Given the description of an element on the screen output the (x, y) to click on. 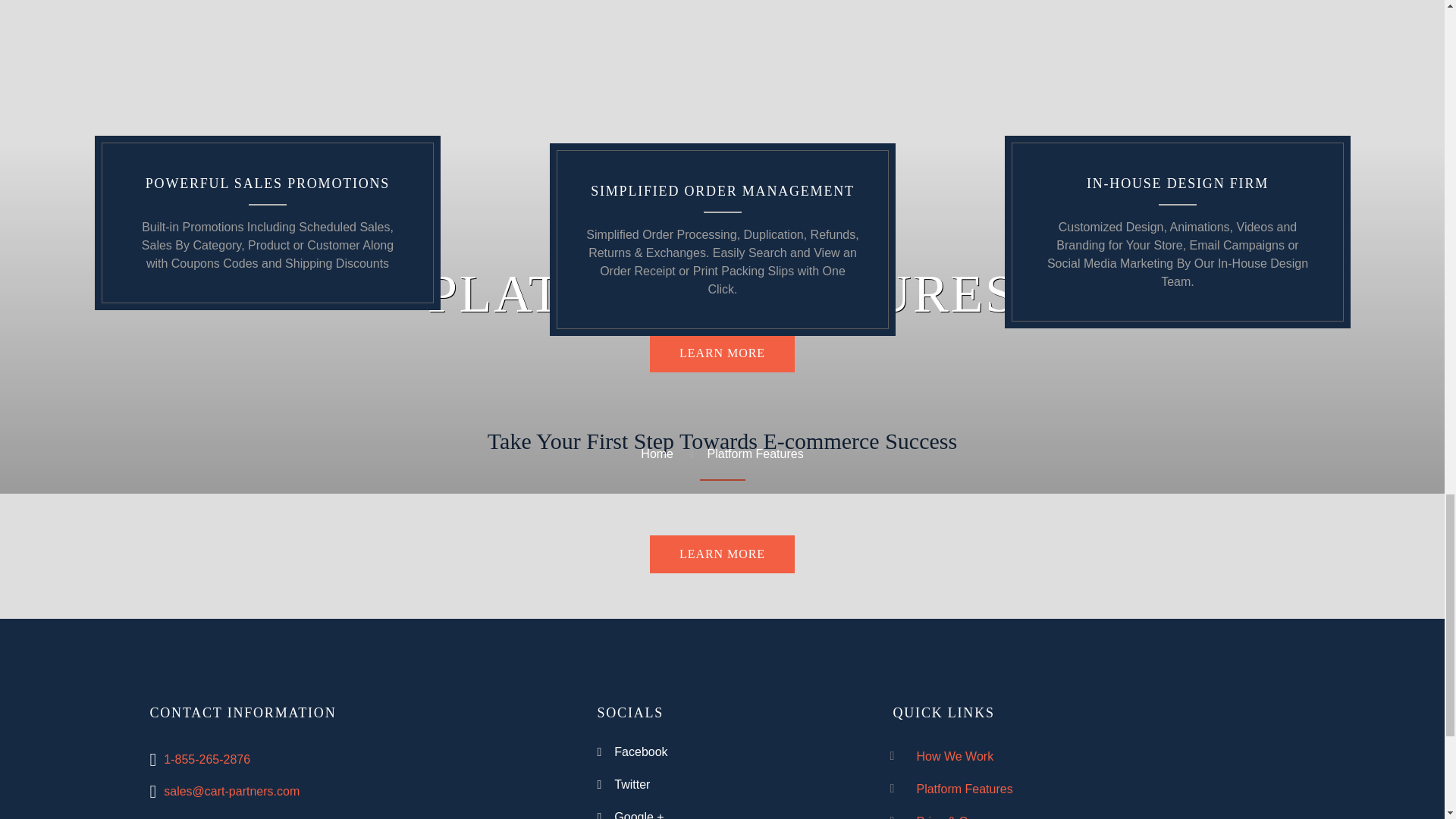
Platform Features (963, 788)
1-855-265-2876 (206, 758)
LEARN MORE (721, 554)
Facebook (640, 751)
Twitter (631, 784)
How We Work (953, 756)
